Given the description of an element on the screen output the (x, y) to click on. 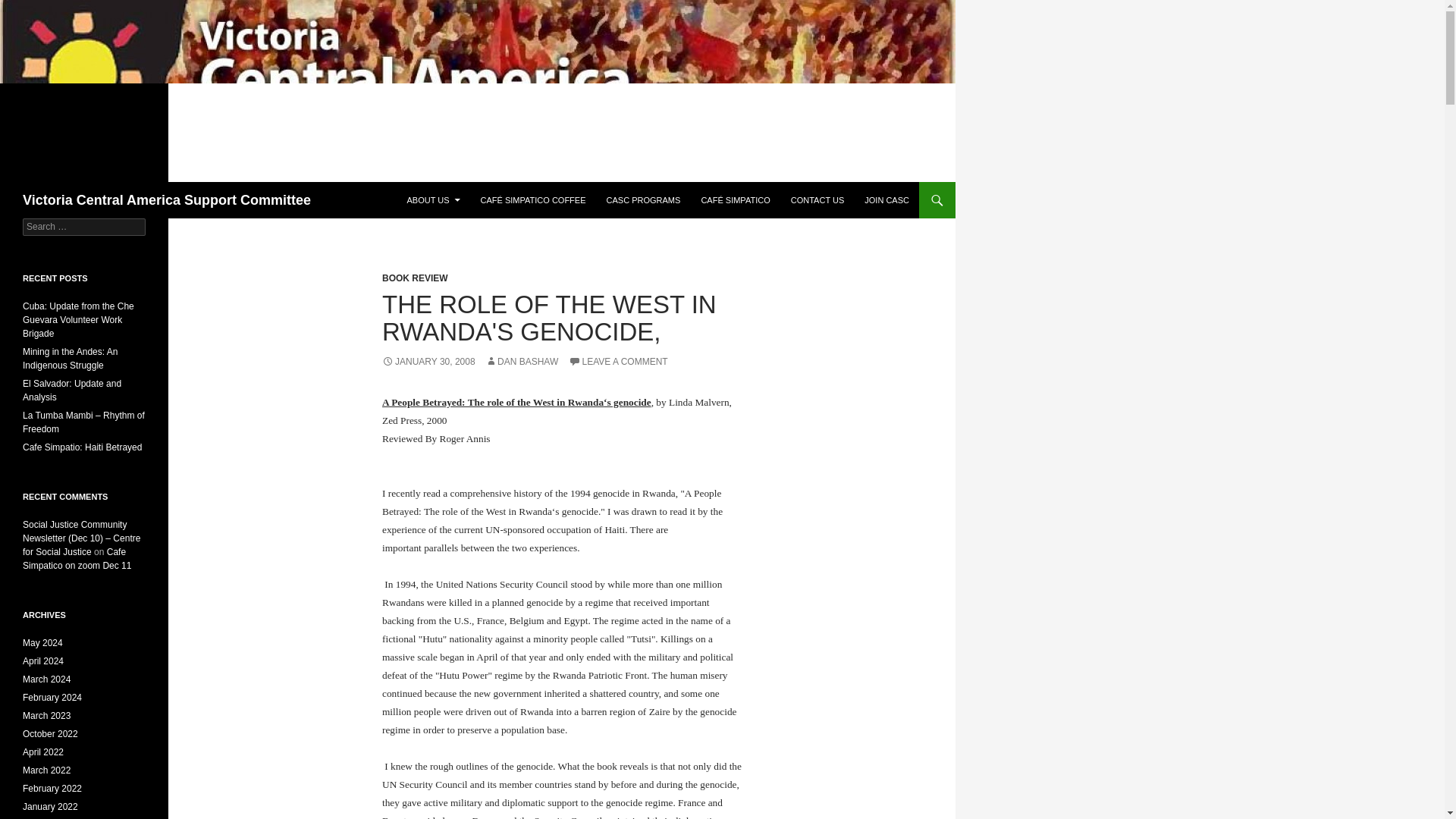
BOOK REVIEW (414, 277)
ABOUT US (432, 199)
CONTACT US (817, 199)
Victoria Central America Support Committee (167, 199)
Cuba: Update from the Che Guevara Volunteer Work Brigade (78, 320)
JOIN CASC (887, 199)
DAN BASHAW (520, 361)
JANUARY 30, 2008 (428, 361)
El Salvador: Update and Analysis (71, 390)
